Given the description of an element on the screen output the (x, y) to click on. 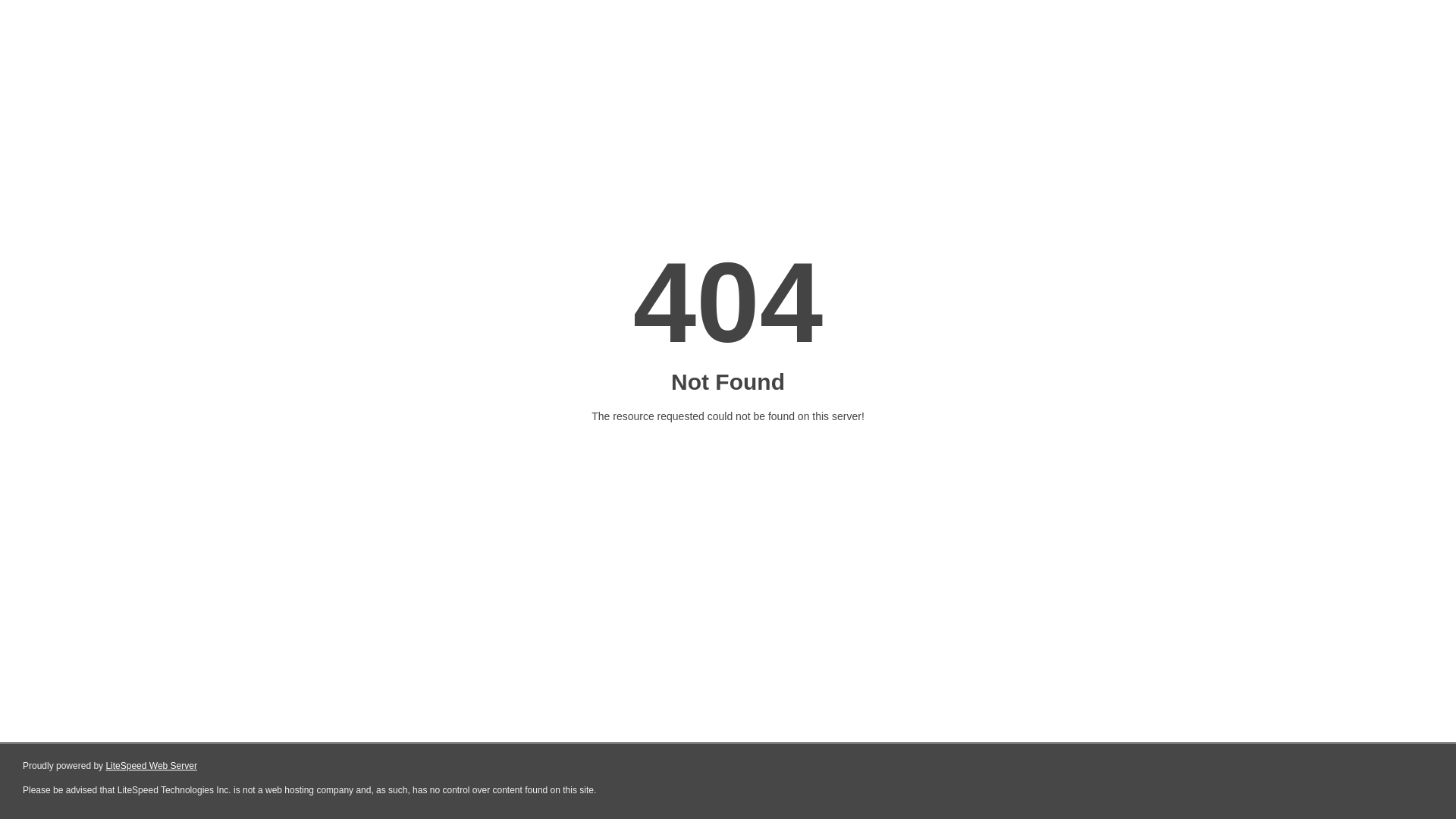
LiteSpeed Web Server Element type: text (151, 765)
